Given the description of an element on the screen output the (x, y) to click on. 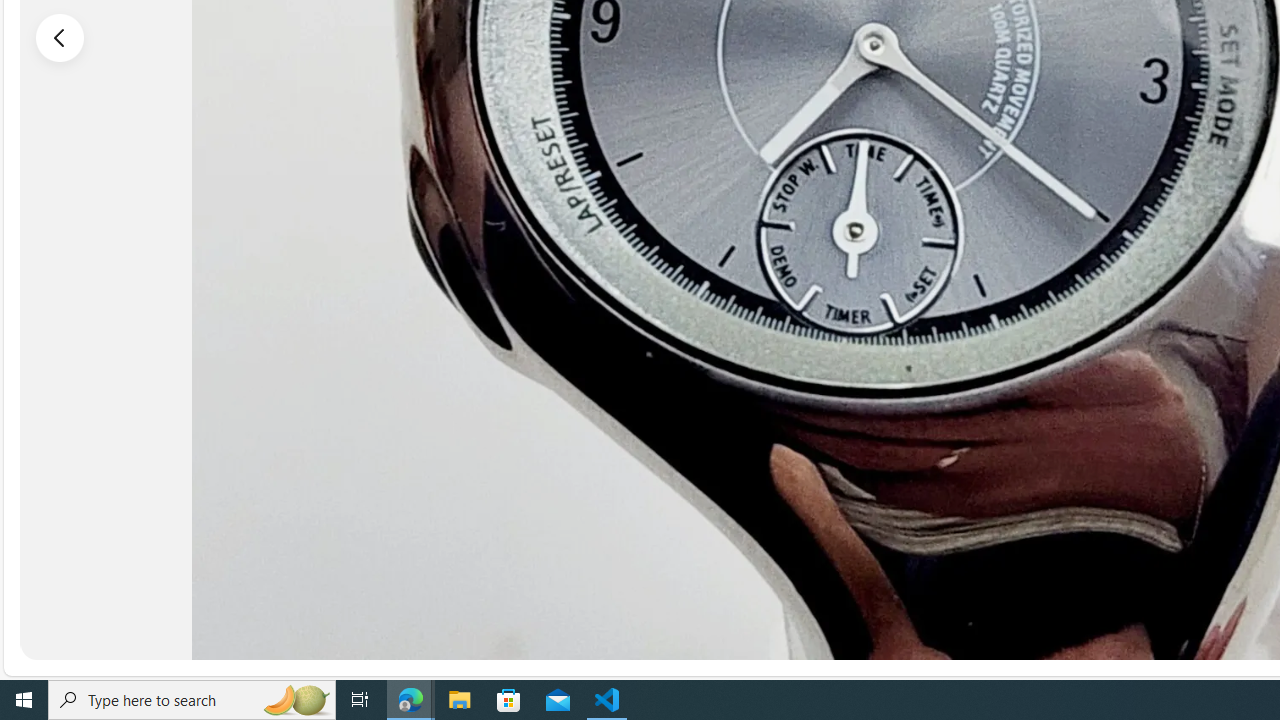
Previous image - Item images thumbnails (59, 37)
